Given the description of an element on the screen output the (x, y) to click on. 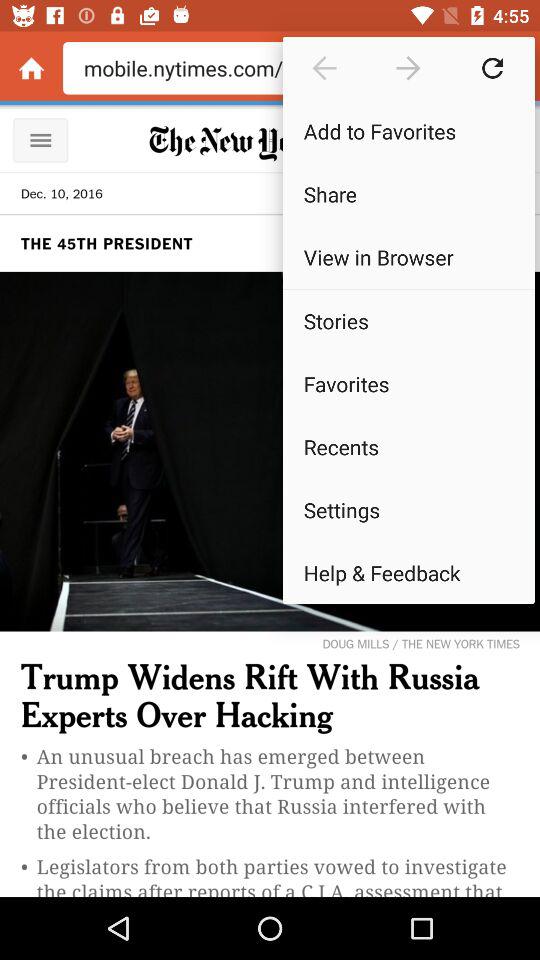
swipe to the share icon (408, 193)
